Given the description of an element on the screen output the (x, y) to click on. 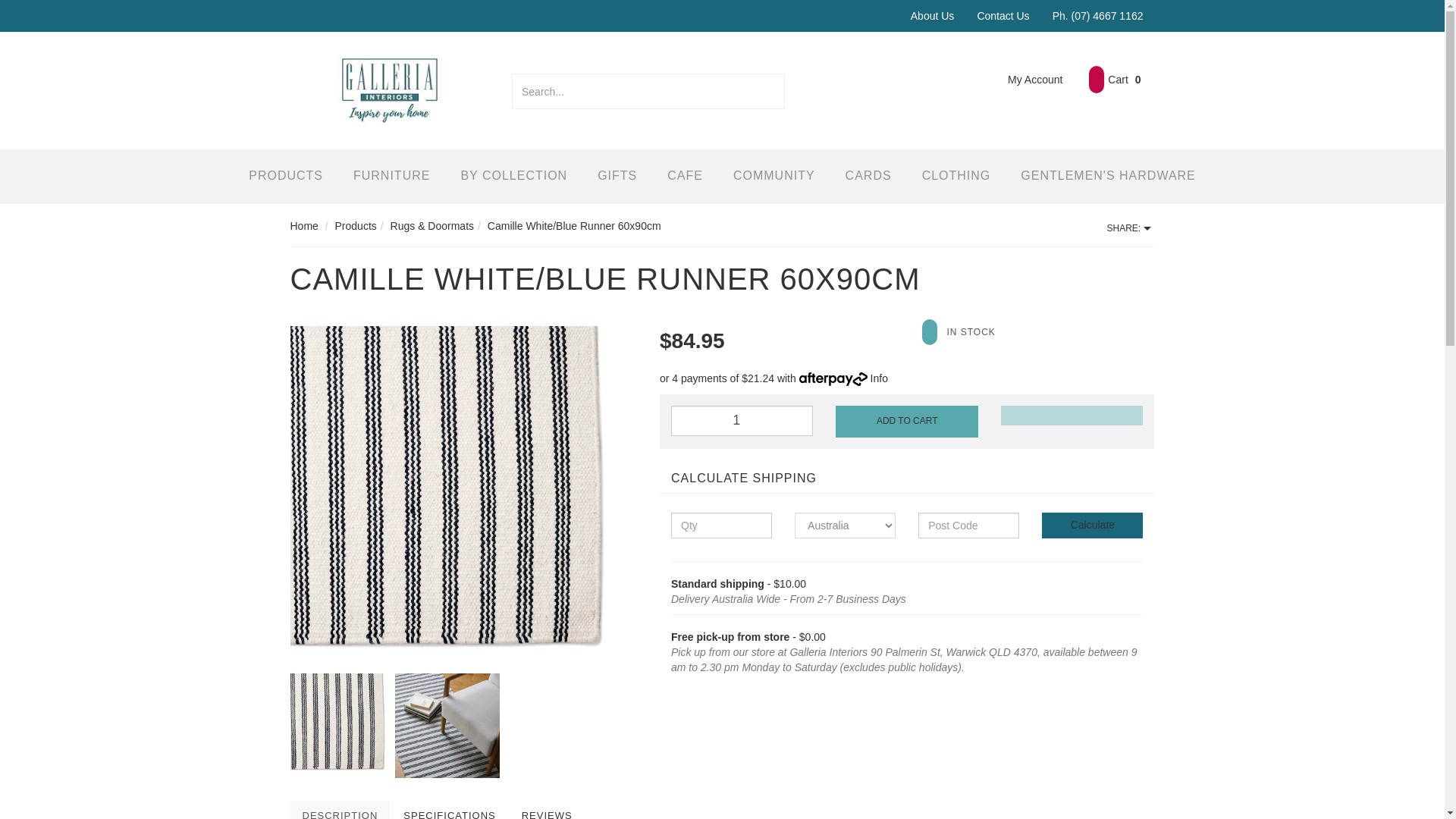
Add to Cart (905, 421)
Large View (446, 725)
Galleria Interiors (389, 89)
Large View (463, 499)
1 (741, 420)
Calculate (1092, 525)
